Given the description of an element on the screen output the (x, y) to click on. 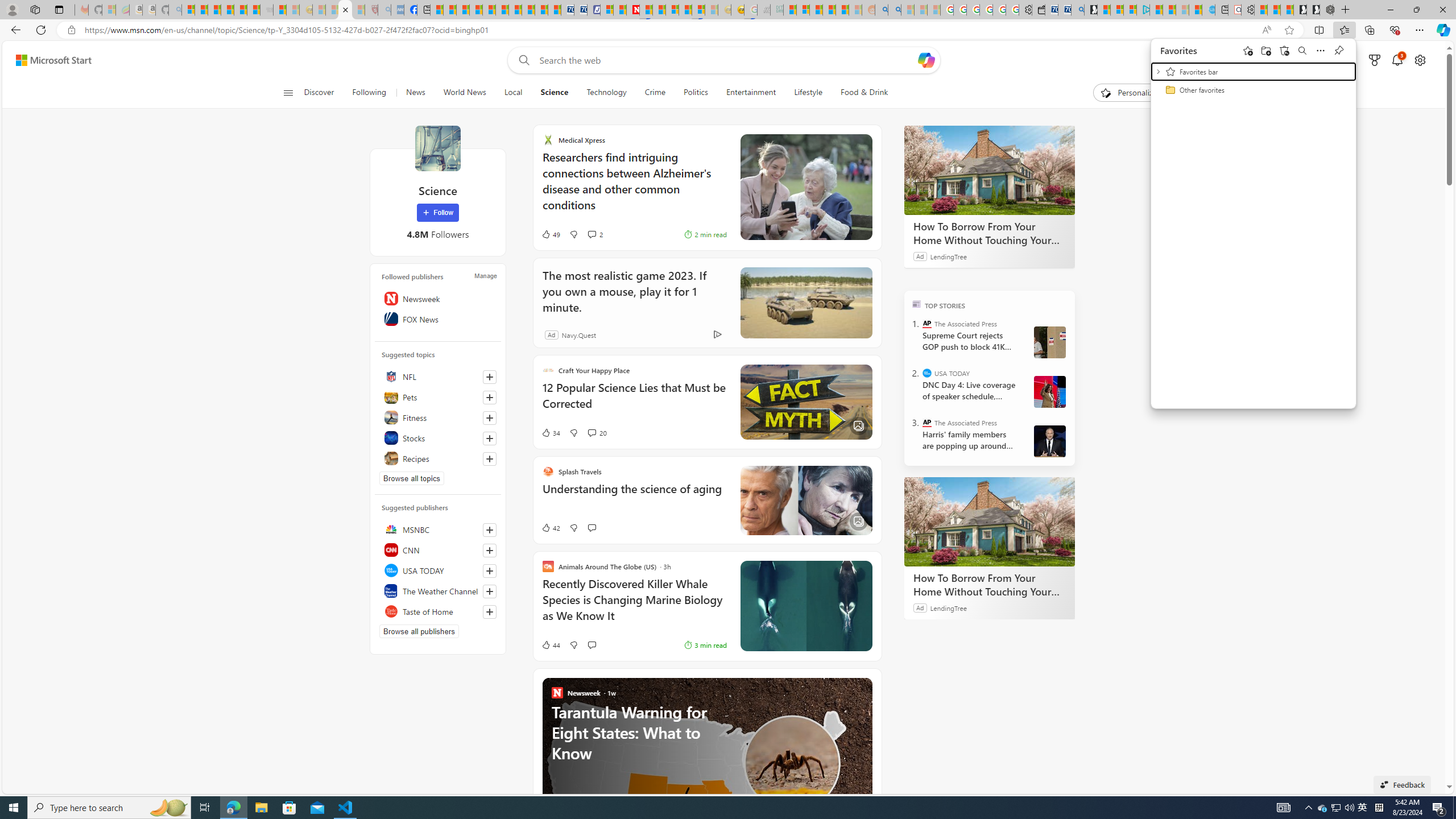
The Weather Channel - MSN (213, 9)
Microsoft Edge - 1 running window (233, 807)
